Given the description of an element on the screen output the (x, y) to click on. 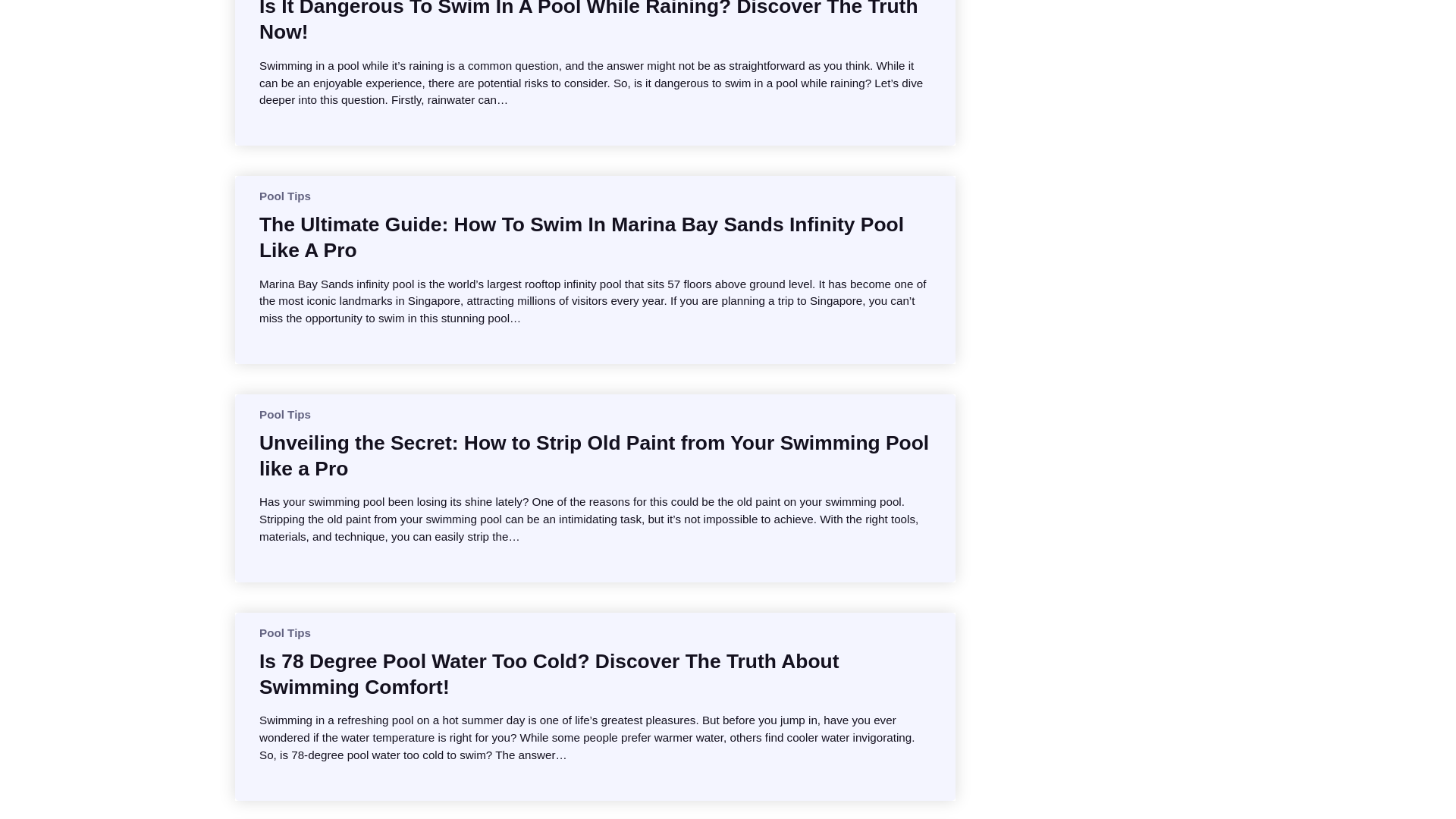
Pool Tips (285, 413)
Pool Tips (285, 195)
Pool Tips (285, 632)
